Given the description of an element on the screen output the (x, y) to click on. 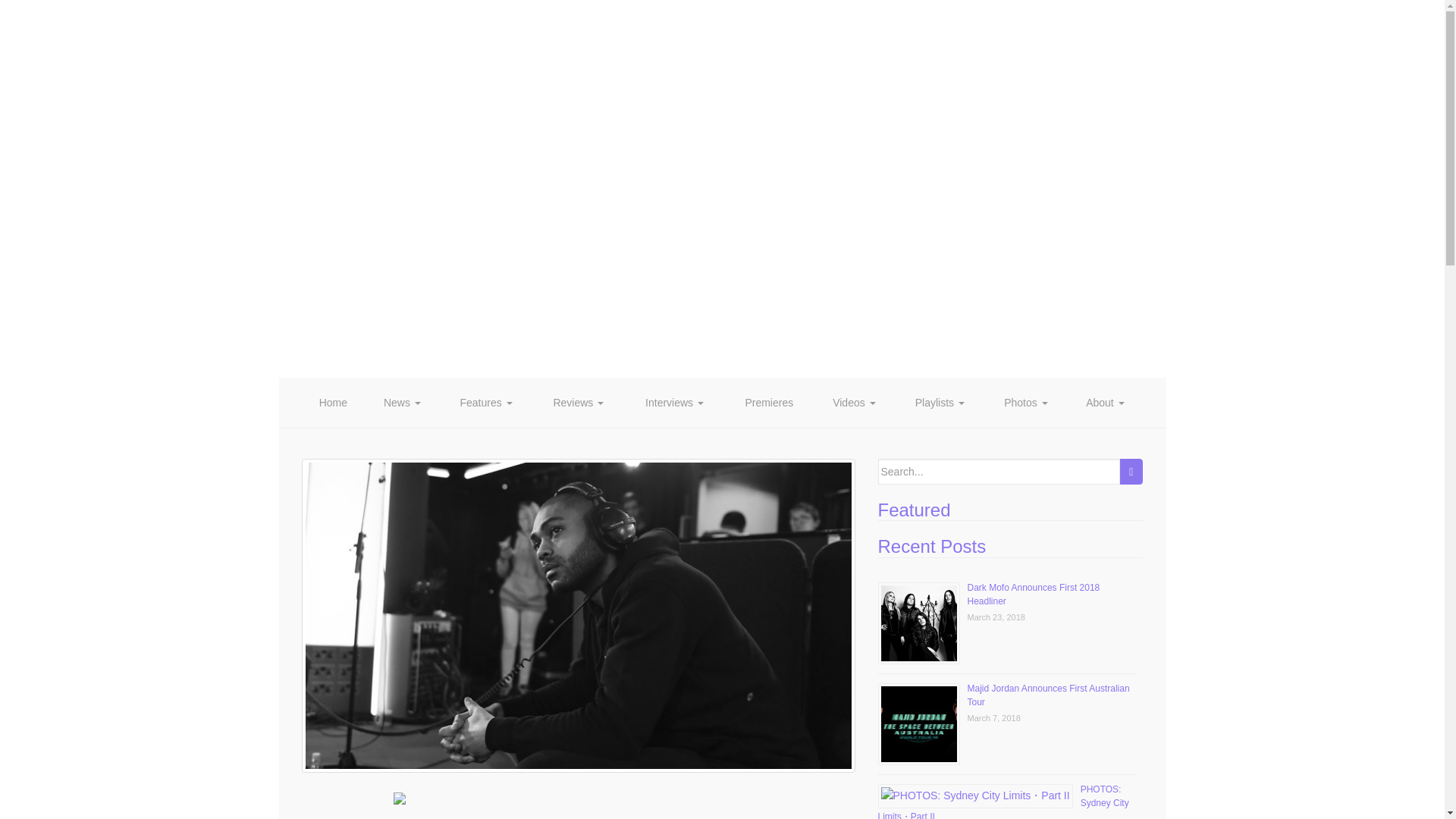
Home (333, 402)
Home (333, 402)
Features (485, 402)
Interviews (674, 402)
Interviews (674, 402)
About (1104, 402)
Playlists (939, 402)
Videos (854, 402)
News (402, 402)
Reviews (578, 402)
Photos (1026, 402)
Premieres (769, 402)
Reviews (578, 402)
Features (485, 402)
News (402, 402)
